Given the description of an element on the screen output the (x, y) to click on. 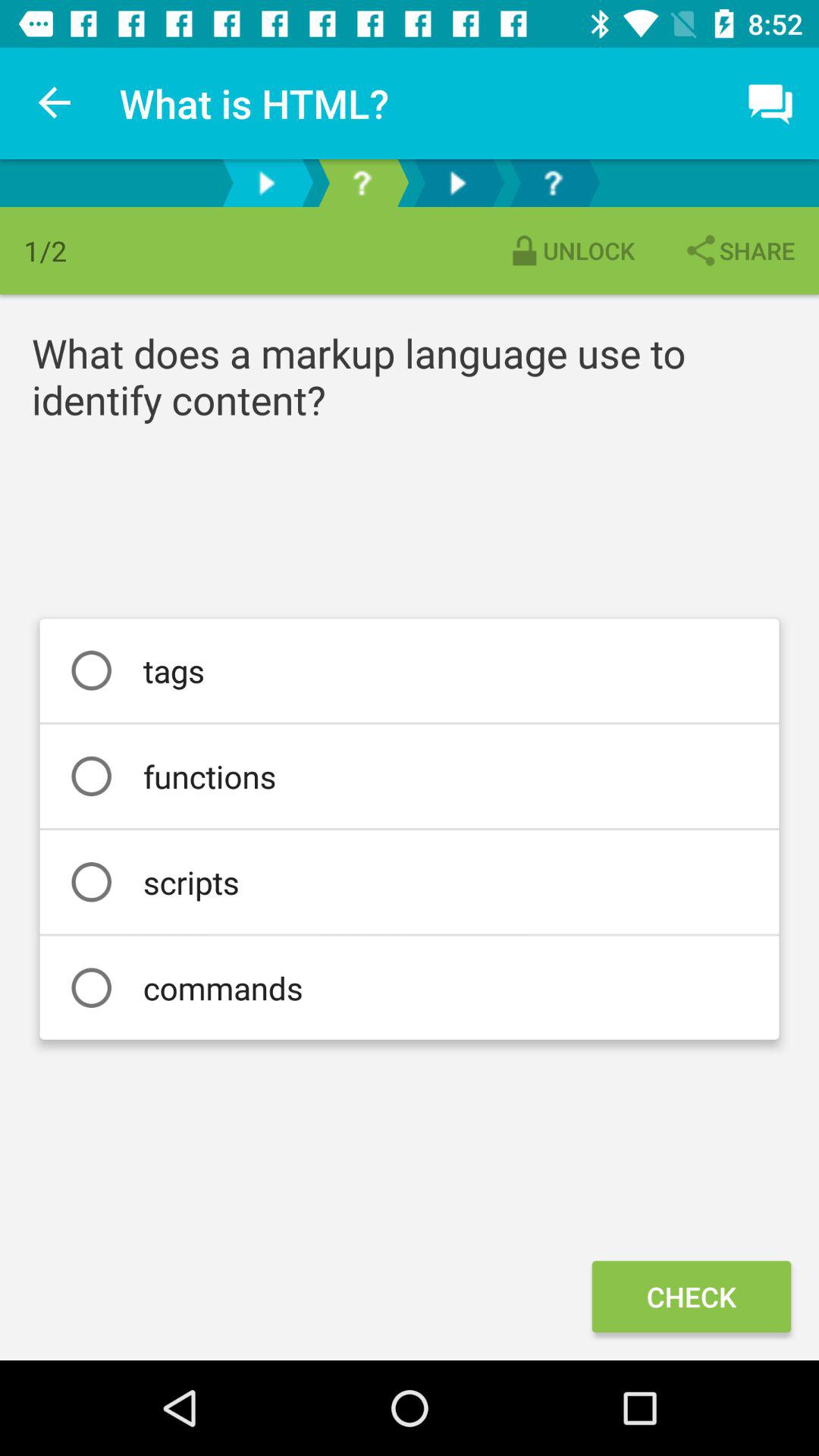
go to the next page (265, 183)
